Given the description of an element on the screen output the (x, y) to click on. 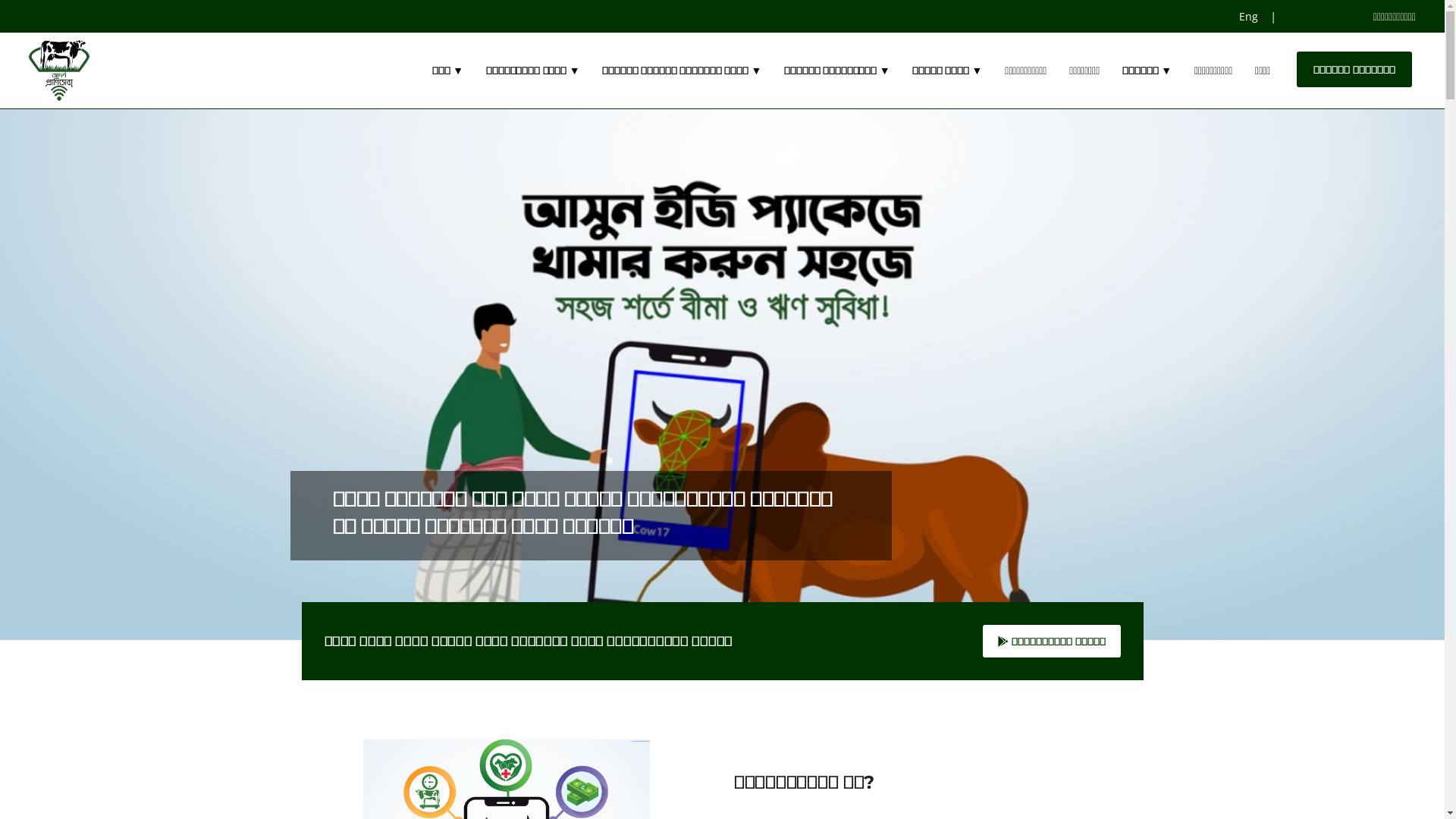
Eng Element type: text (1250, 16)
